Given the description of an element on the screen output the (x, y) to click on. 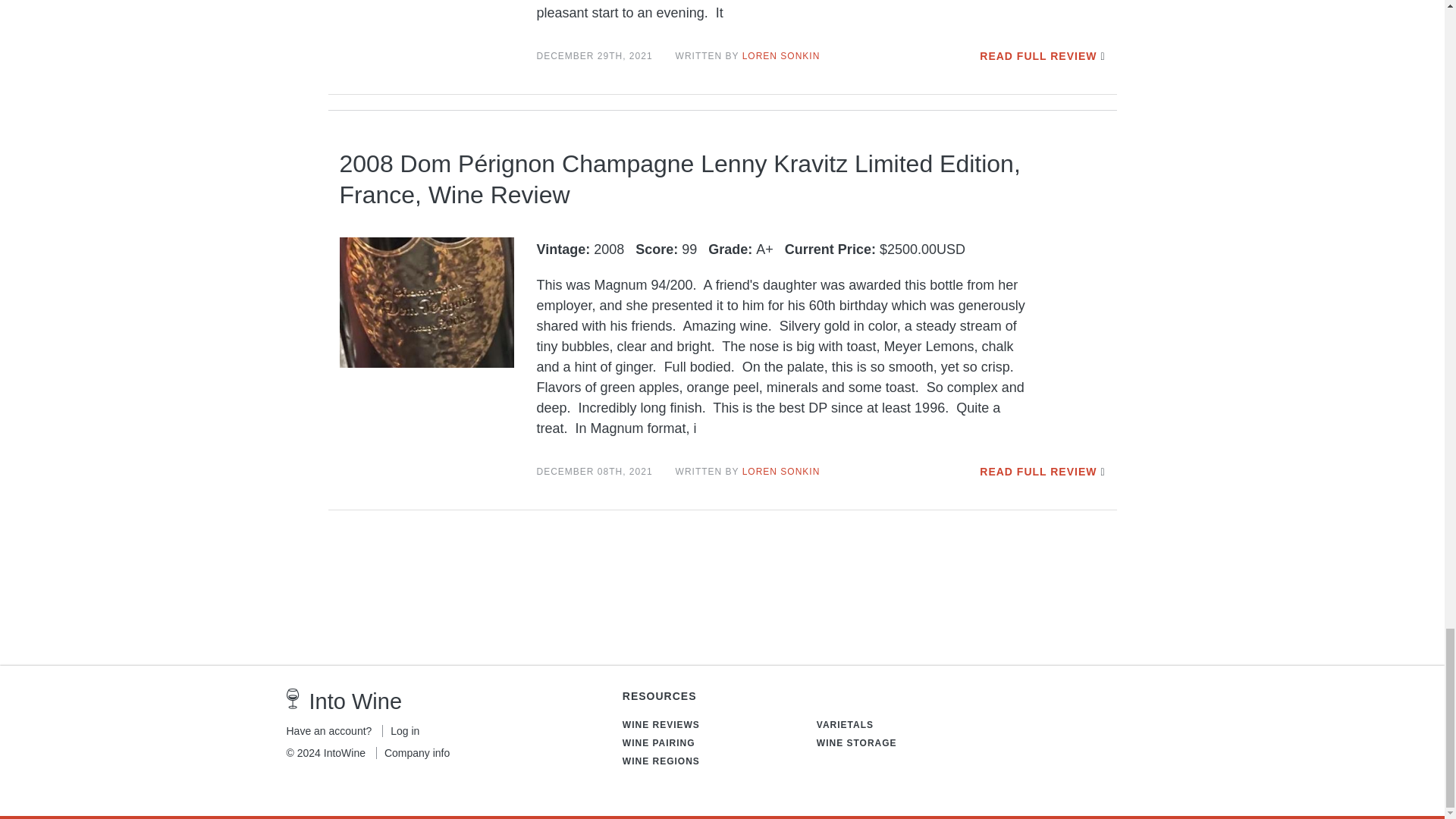
LOREN SONKIN (781, 55)
LOREN SONKIN (781, 471)
READ FULL REVIEW (1037, 471)
Home (292, 698)
Log in (400, 730)
View user profile. (781, 471)
Into Wine (355, 701)
READ FULL REVIEW (1037, 55)
View user profile. (781, 55)
